Given the description of an element on the screen output the (x, y) to click on. 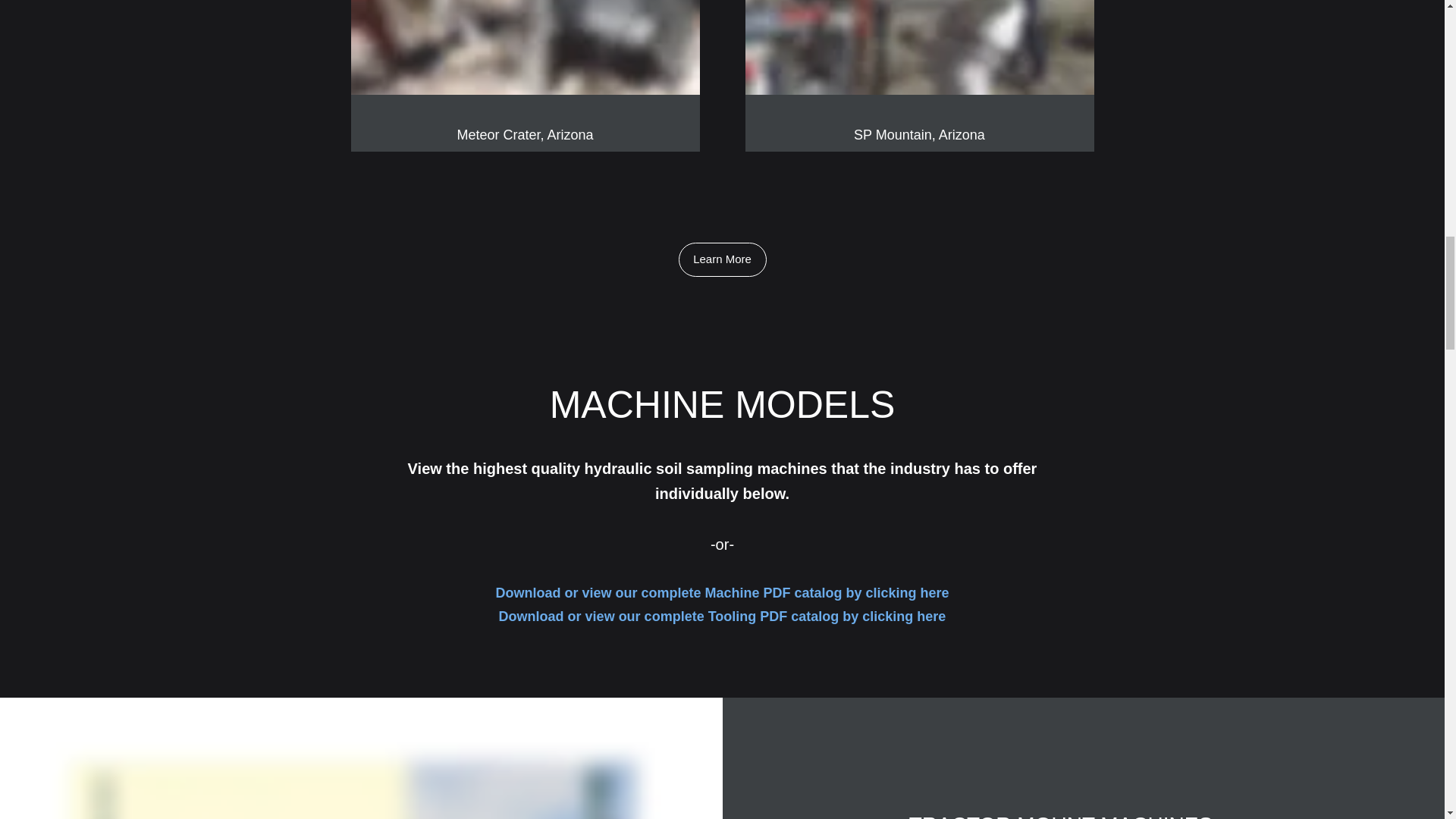
Learn More (721, 259)
TRACTOR MOUNT MACHINES (1060, 816)
